Given the description of an element on the screen output the (x, y) to click on. 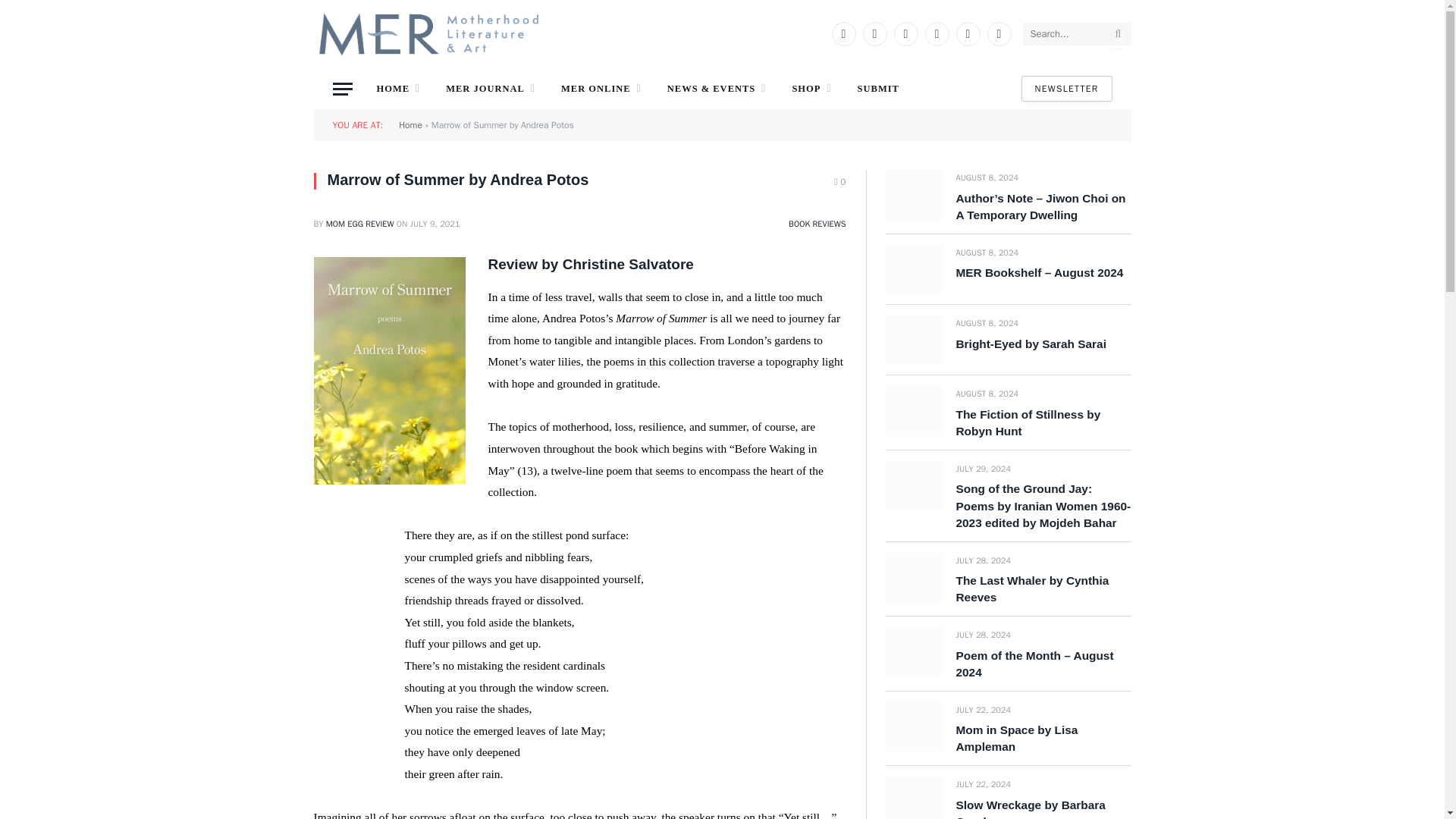
Posts by Mom Egg Review (360, 223)
Bright-Eyed by Sarah Sarai (913, 339)
2021-07-09 (435, 223)
